Given the description of an element on the screen output the (x, y) to click on. 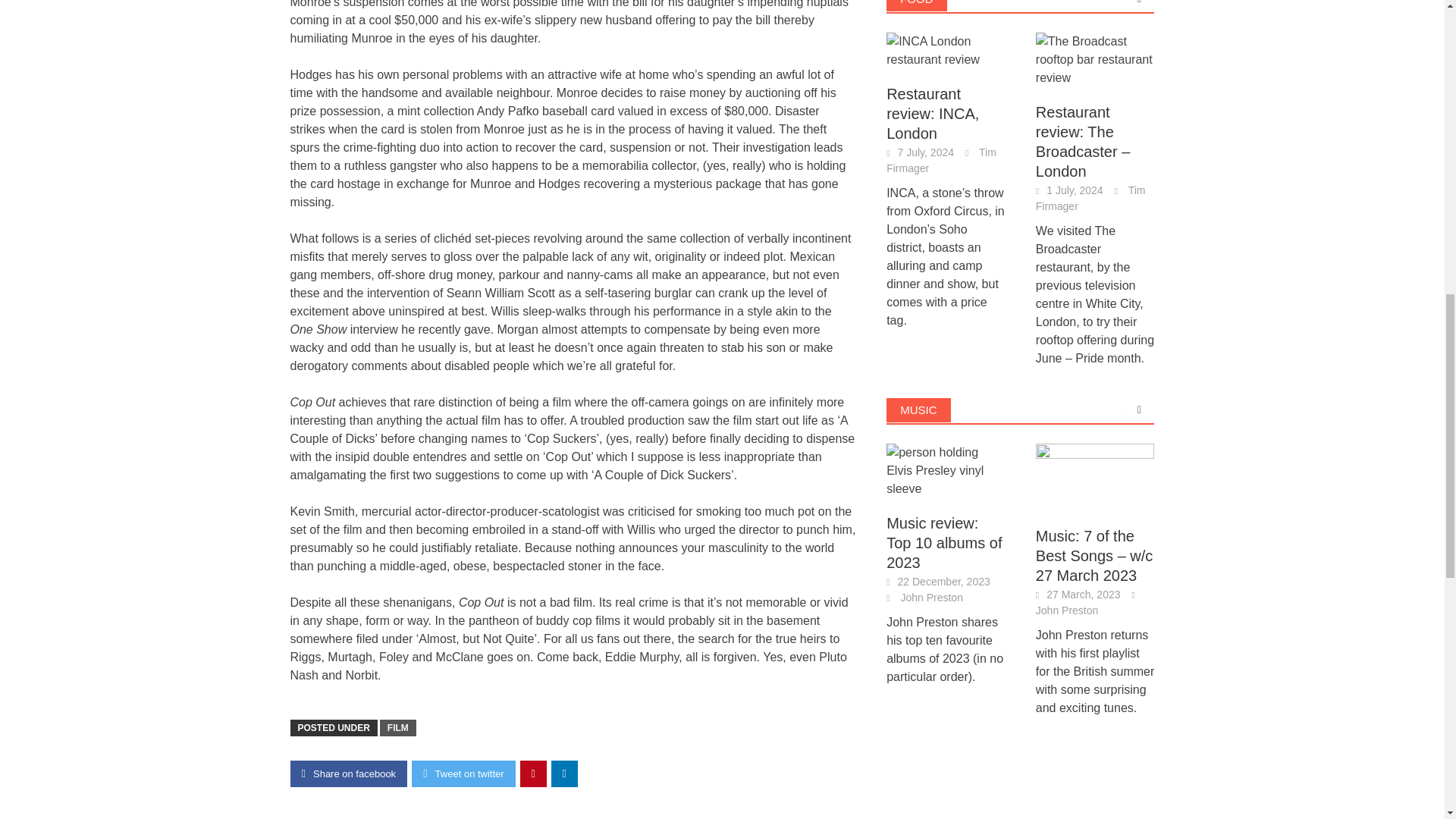
Restaurant review: INCA, London (946, 49)
Music review: Top 10 albums of 2023 (946, 469)
View All Posts (1139, 409)
Restaurant review: INCA, London (946, 50)
